Given the description of an element on the screen output the (x, y) to click on. 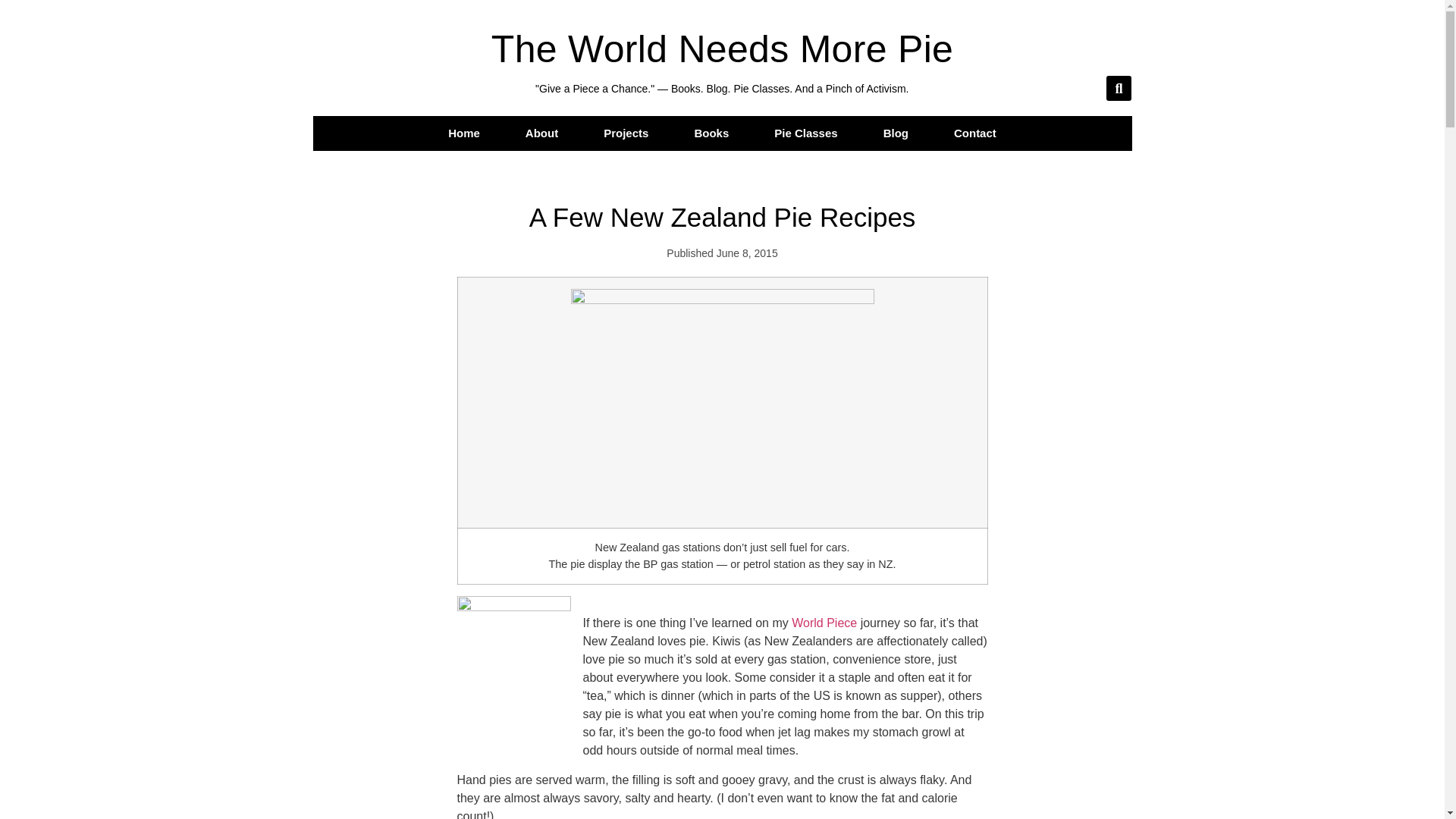
Projects (625, 133)
World Piece (824, 622)
Home (463, 133)
Contact (975, 133)
Pie Classes (805, 133)
Books (711, 133)
About (541, 133)
Blog (895, 133)
The World Needs More Pie (722, 48)
